Given the description of an element on the screen output the (x, y) to click on. 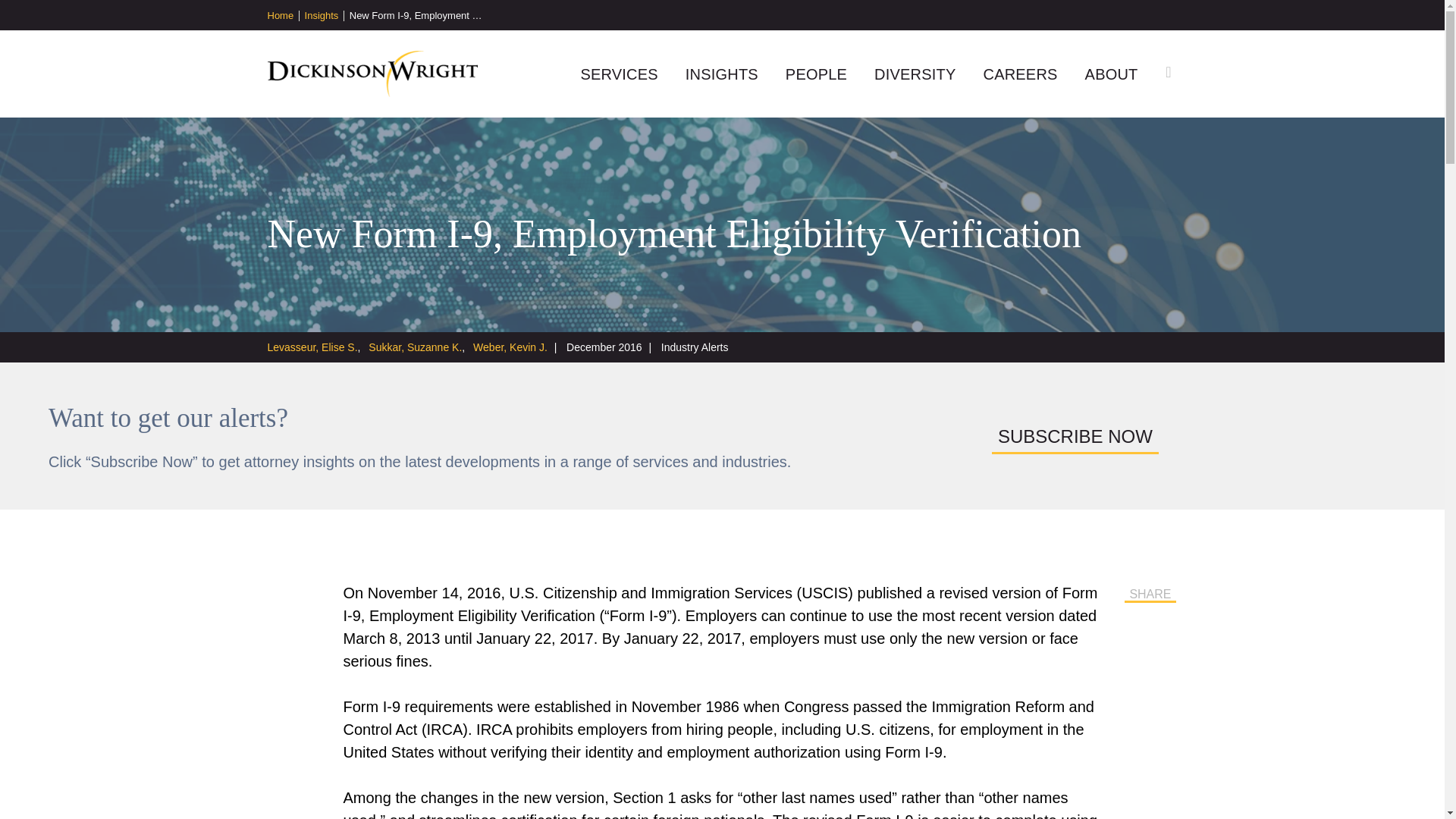
CAREERS (1019, 73)
Insights (323, 15)
Sukkar, Suzanne K. (419, 346)
INSIGHTS (721, 73)
SERVICES (618, 73)
Weber, Kevin J. (510, 346)
PEOPLE (816, 73)
DIVERSITY (915, 73)
Home (282, 15)
ABOUT (1111, 73)
